Given the description of an element on the screen output the (x, y) to click on. 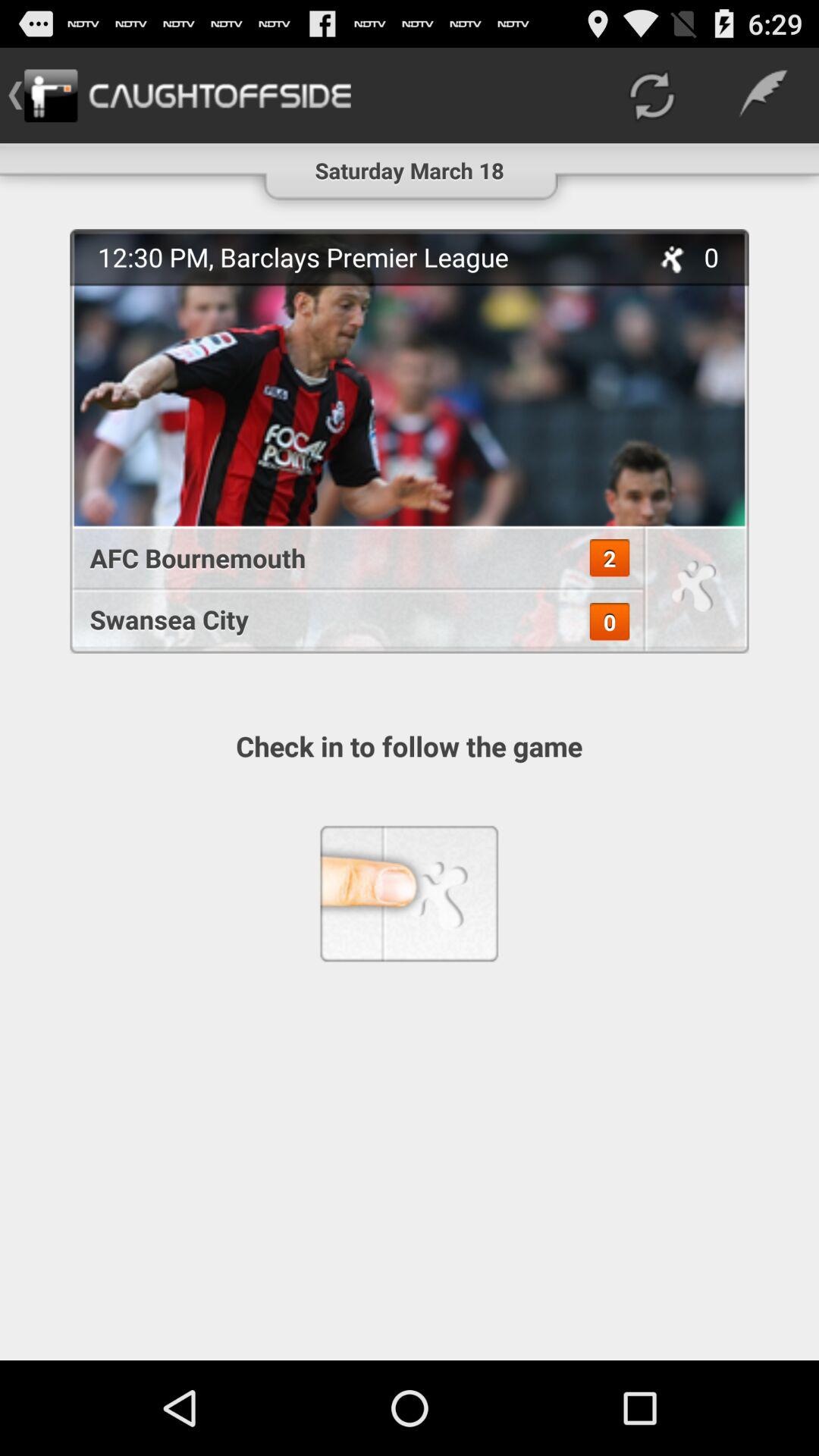
flip until saturday march 18 icon (409, 164)
